Given the description of an element on the screen output the (x, y) to click on. 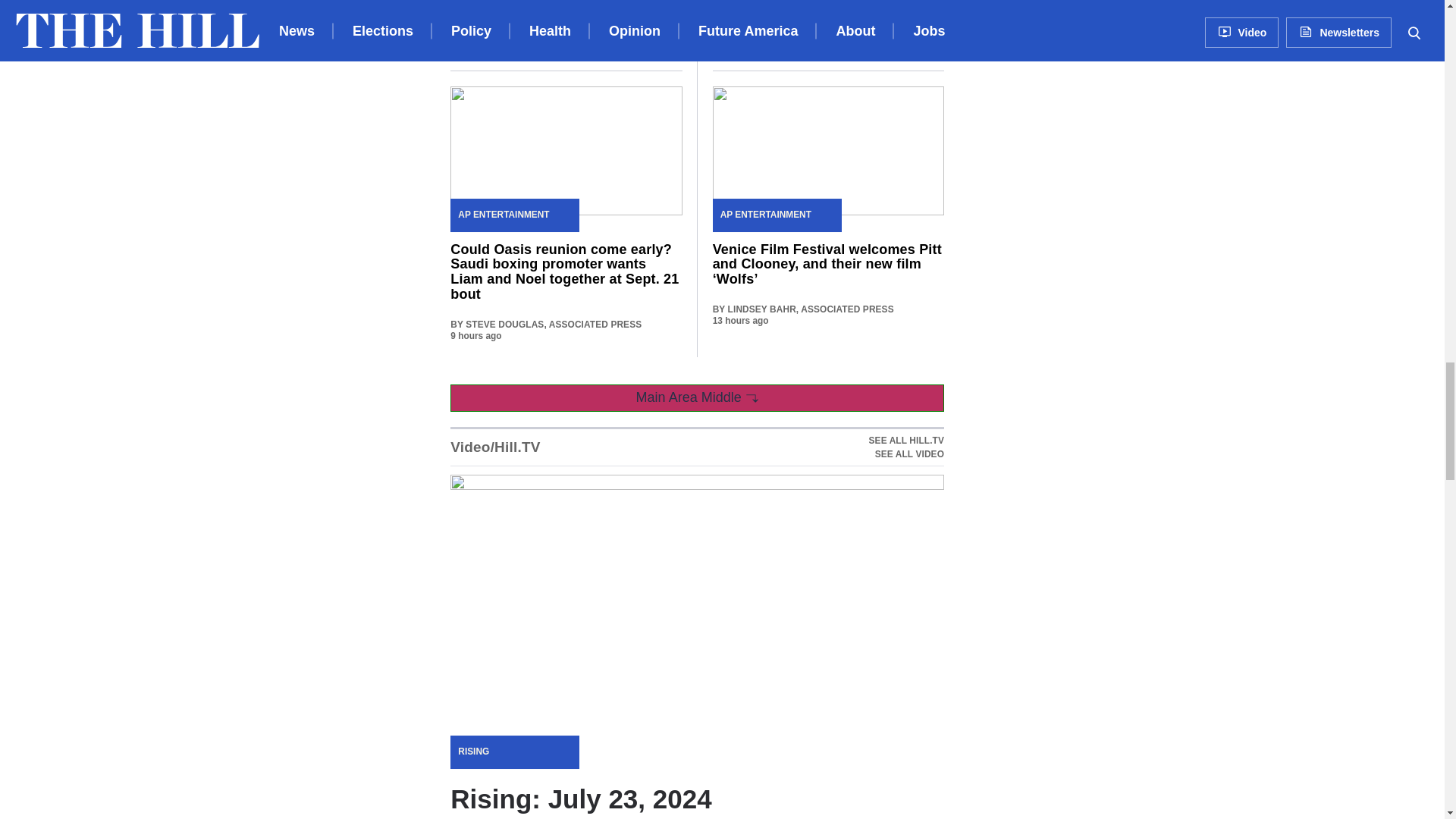
SEE ALL HILL.TV (906, 447)
SEE ALL VIDEO (906, 440)
